Given the description of an element on the screen output the (x, y) to click on. 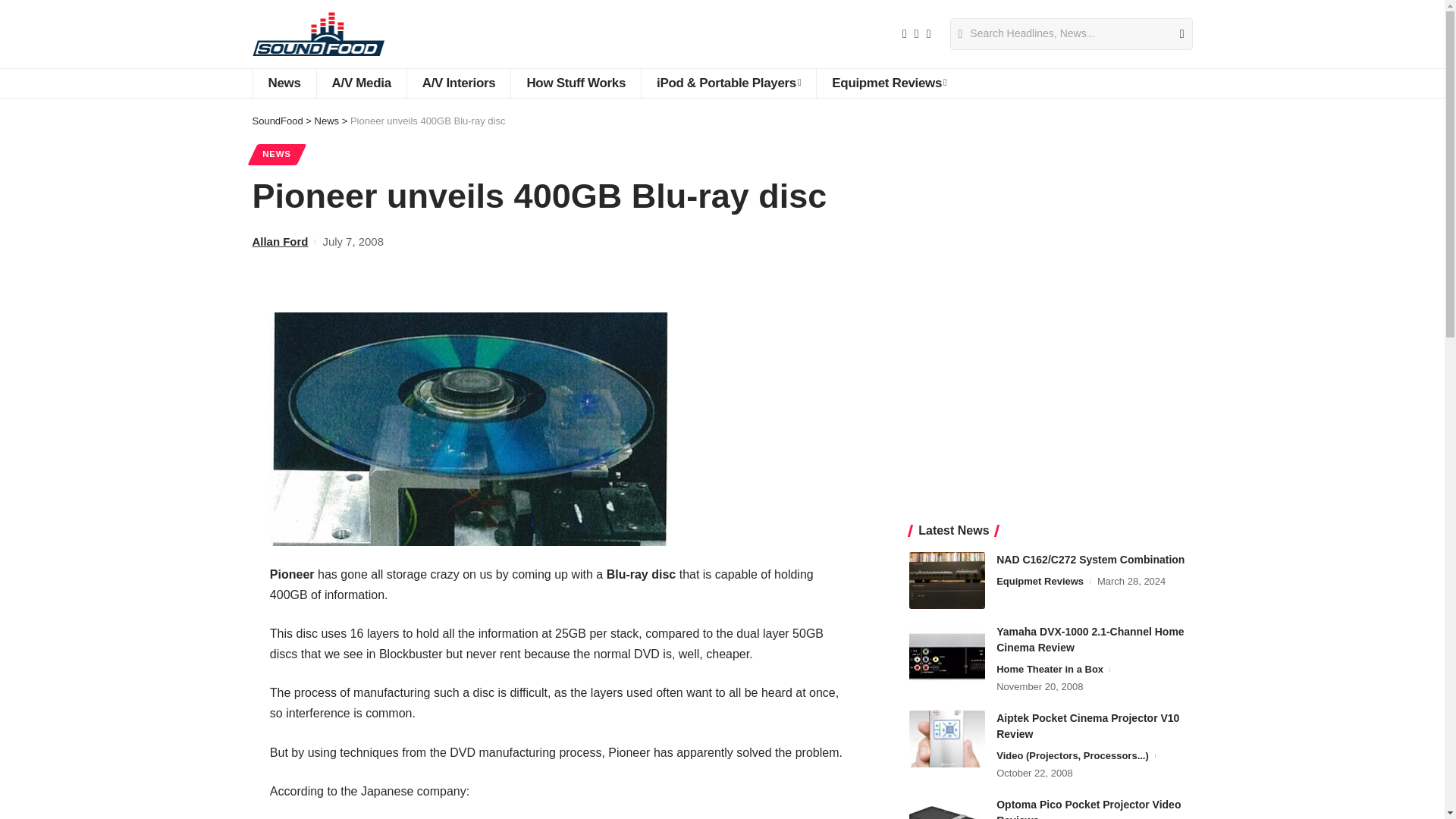
Go to the News Category archives. (326, 120)
Equipmet Reviews (887, 82)
How Stuff Works (575, 82)
Aiptek Pocket Cinema Projector V10 Review (946, 738)
Optoma Pico Pocket Projector Video Reviews (946, 807)
Go to SoundFood. (276, 120)
SoundFood (318, 33)
Pioneer unveils 400GB Blu-ray disc (468, 427)
Search (1175, 33)
News (283, 82)
Yamaha DVX-1000 2.1-Channel Home Cinema Review (946, 651)
Advertisement (1050, 387)
